Given the description of an element on the screen output the (x, y) to click on. 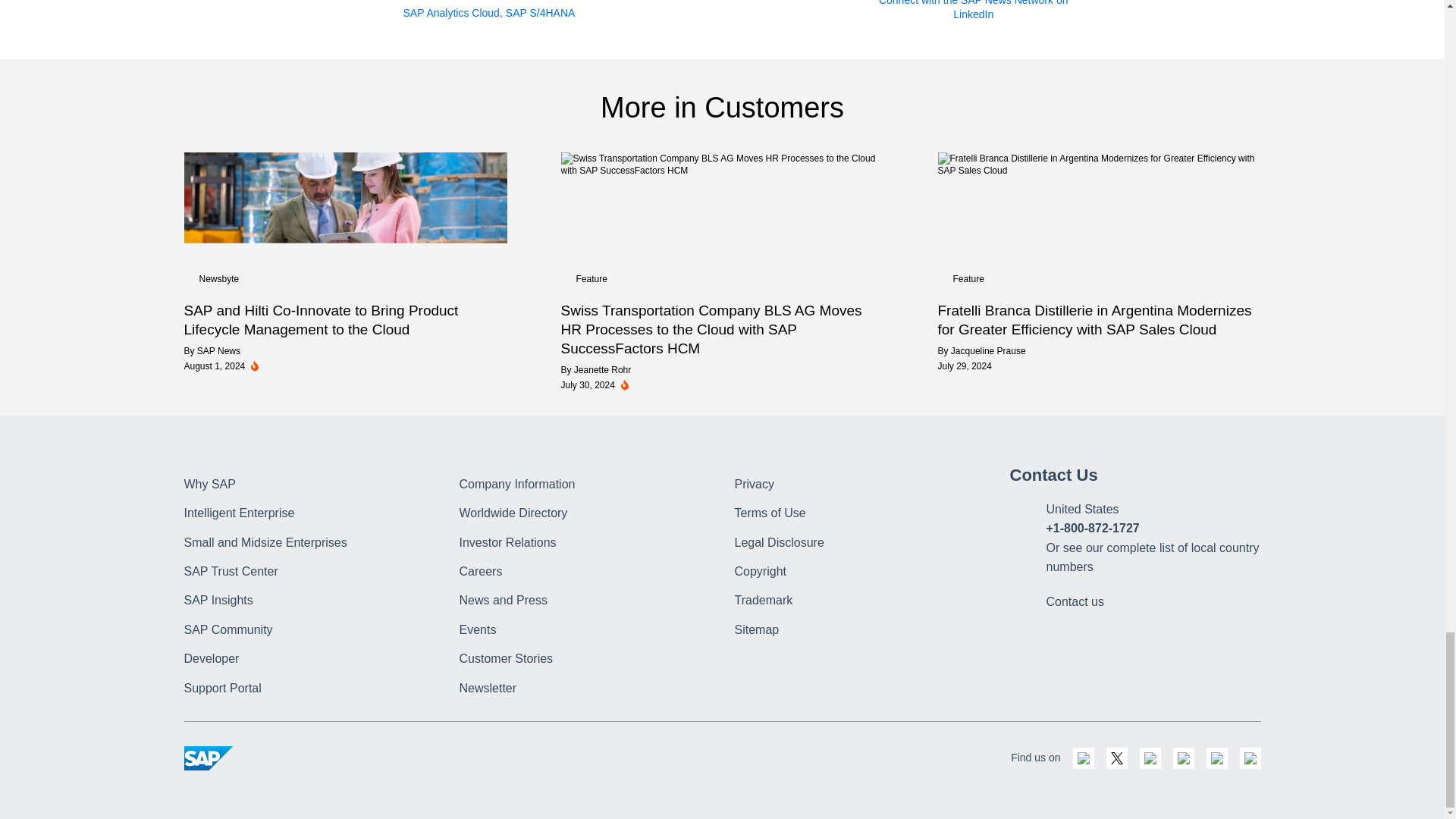
Jeanette Rohr (601, 369)
Connect with the SAP News Network on LinkedIn (973, 10)
Feature (591, 278)
Jacqueline Prause (988, 350)
Posts by SAP News (218, 350)
Newsbyte (218, 278)
SAP Analytics Cloud (452, 13)
Posts by Jacqueline Prause (988, 350)
